Given the description of an element on the screen output the (x, y) to click on. 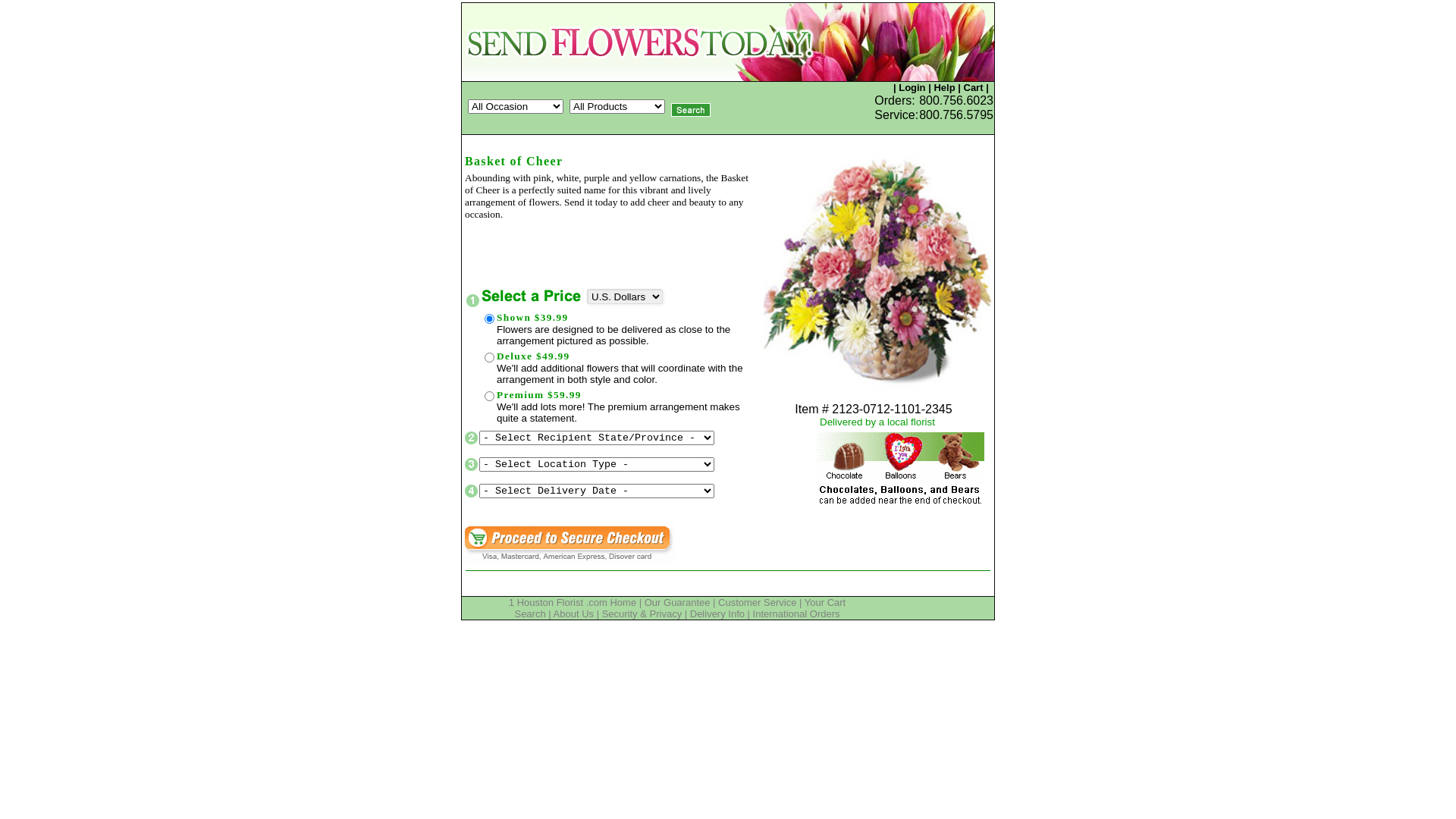
Our Guarantee Element type: text (677, 602)
Login Element type: text (911, 87)
Help Element type: text (943, 87)
Cart Element type: text (972, 87)
Delivery Info Element type: text (717, 613)
International Orders Element type: text (796, 613)
About Us Element type: text (573, 613)
Your Cart Element type: text (824, 602)
1 Houston Florist .com Home Element type: text (572, 602)
Customer Service Element type: text (757, 602)
Search Element type: text (529, 613)
Security & Privacy Element type: text (641, 613)
